Given the description of an element on the screen output the (x, y) to click on. 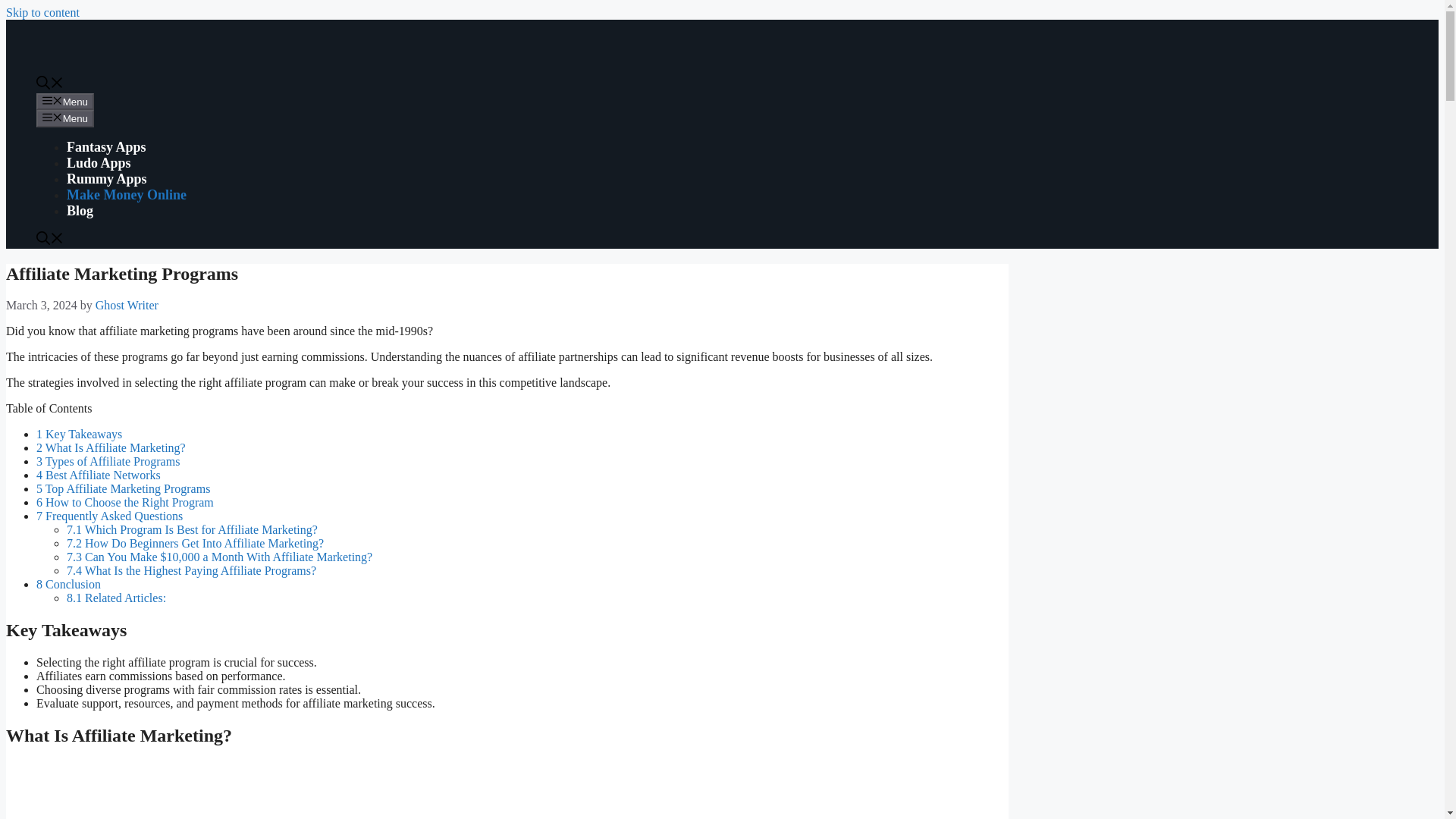
7.1 Which Program Is Best for Affiliate Marketing? (191, 529)
4 Best Affiliate Networks (98, 474)
Menu (65, 101)
Fantasy Apps (106, 146)
5 Top Affiliate Marketing Programs (122, 488)
Skip to content (42, 11)
2 What Is Affiliate Marketing? (111, 447)
Make Money Online (126, 194)
Rummy Apps (106, 178)
6 How to Choose the Right Program (125, 502)
8 Conclusion (68, 584)
Menu (65, 117)
3 Types of Affiliate Programs (107, 461)
Blog (79, 210)
7.2 How Do Beginners Get Into Affiliate Marketing? (194, 543)
